Given the description of an element on the screen output the (x, y) to click on. 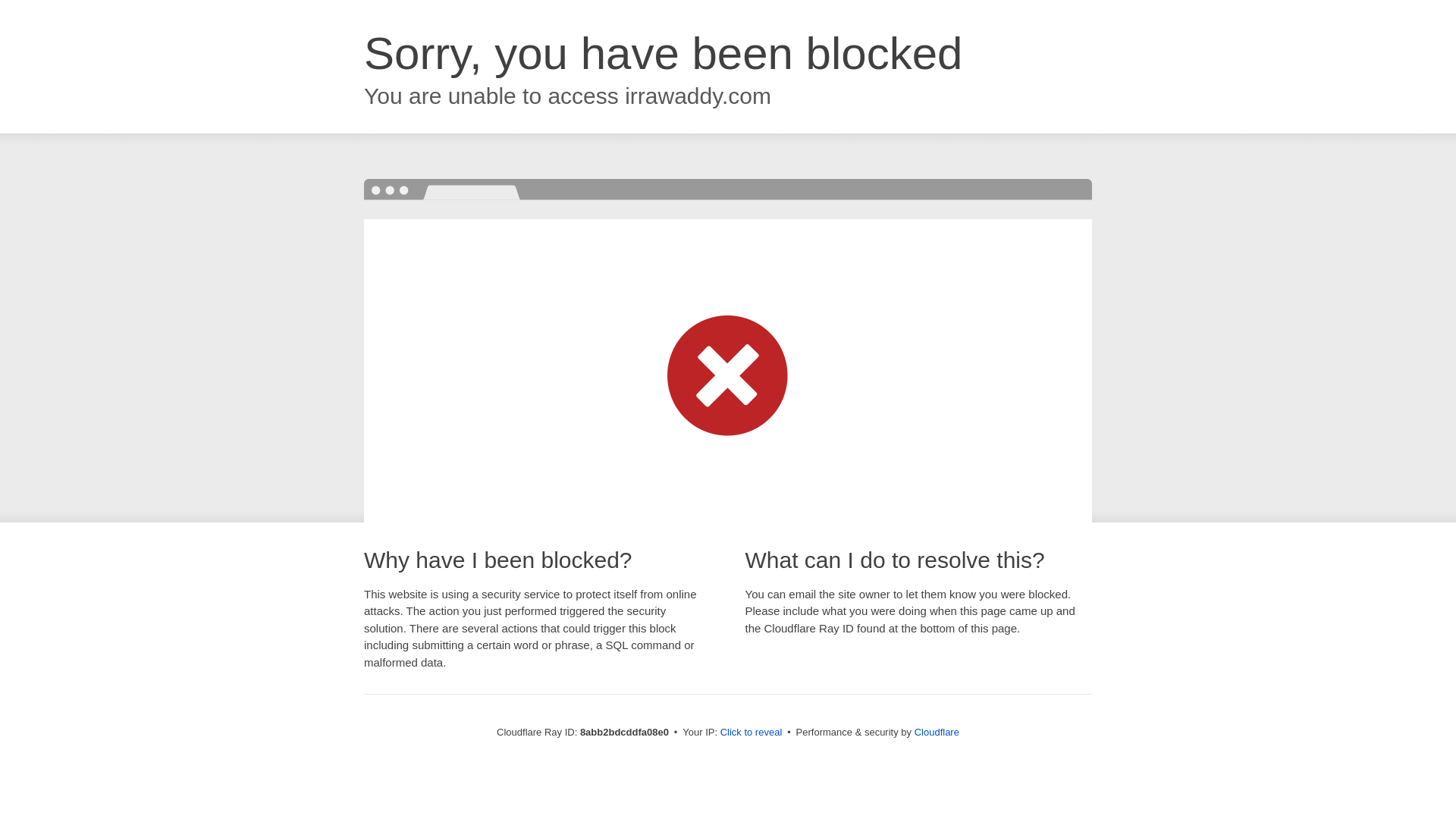
Cloudflare (936, 731)
Click to reveal (751, 732)
